Given the description of an element on the screen output the (x, y) to click on. 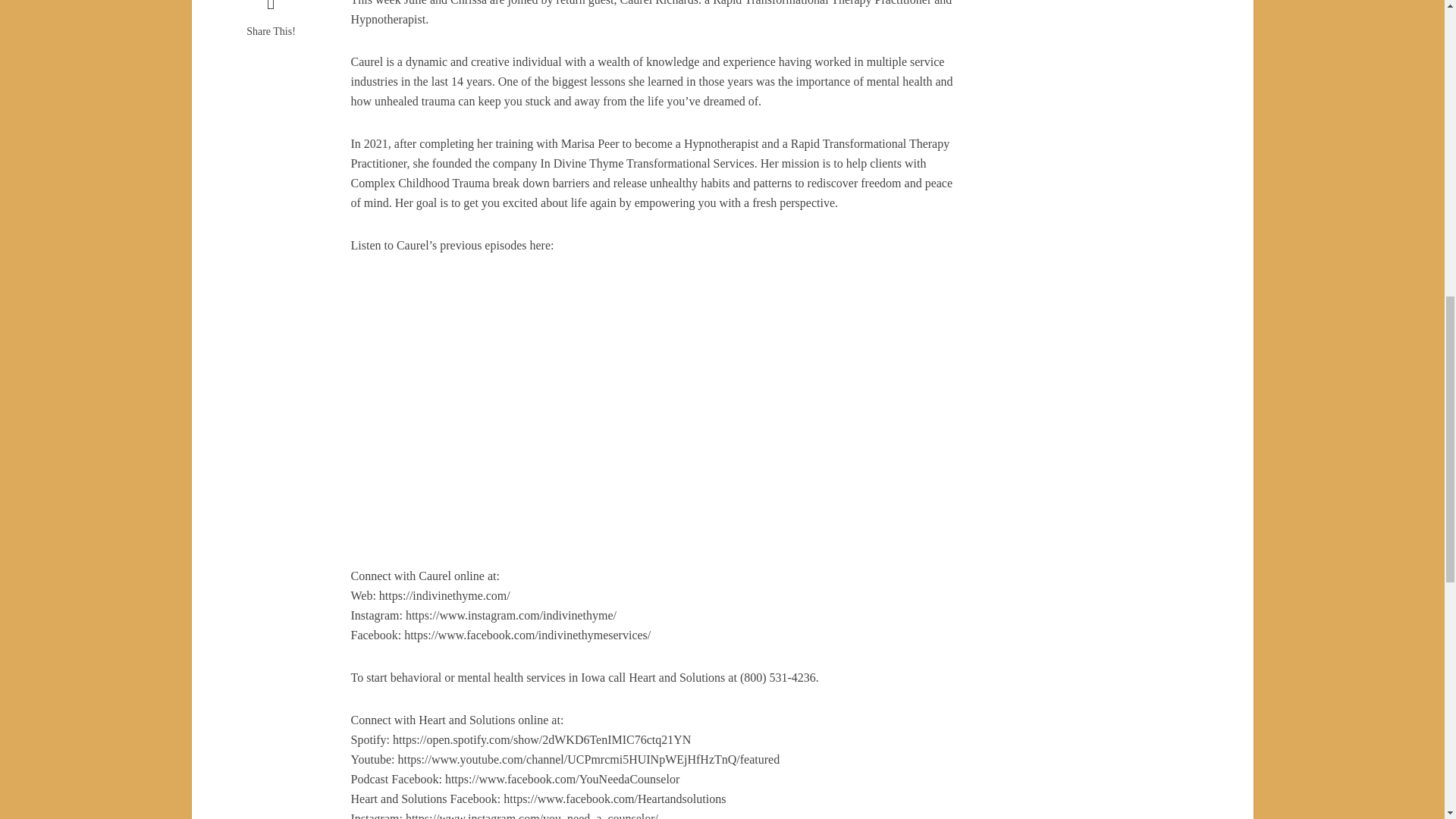
Spotify Embed: Hypnotherapy, with guest Caurel Richards (656, 313)
